Given the description of an element on the screen output the (x, y) to click on. 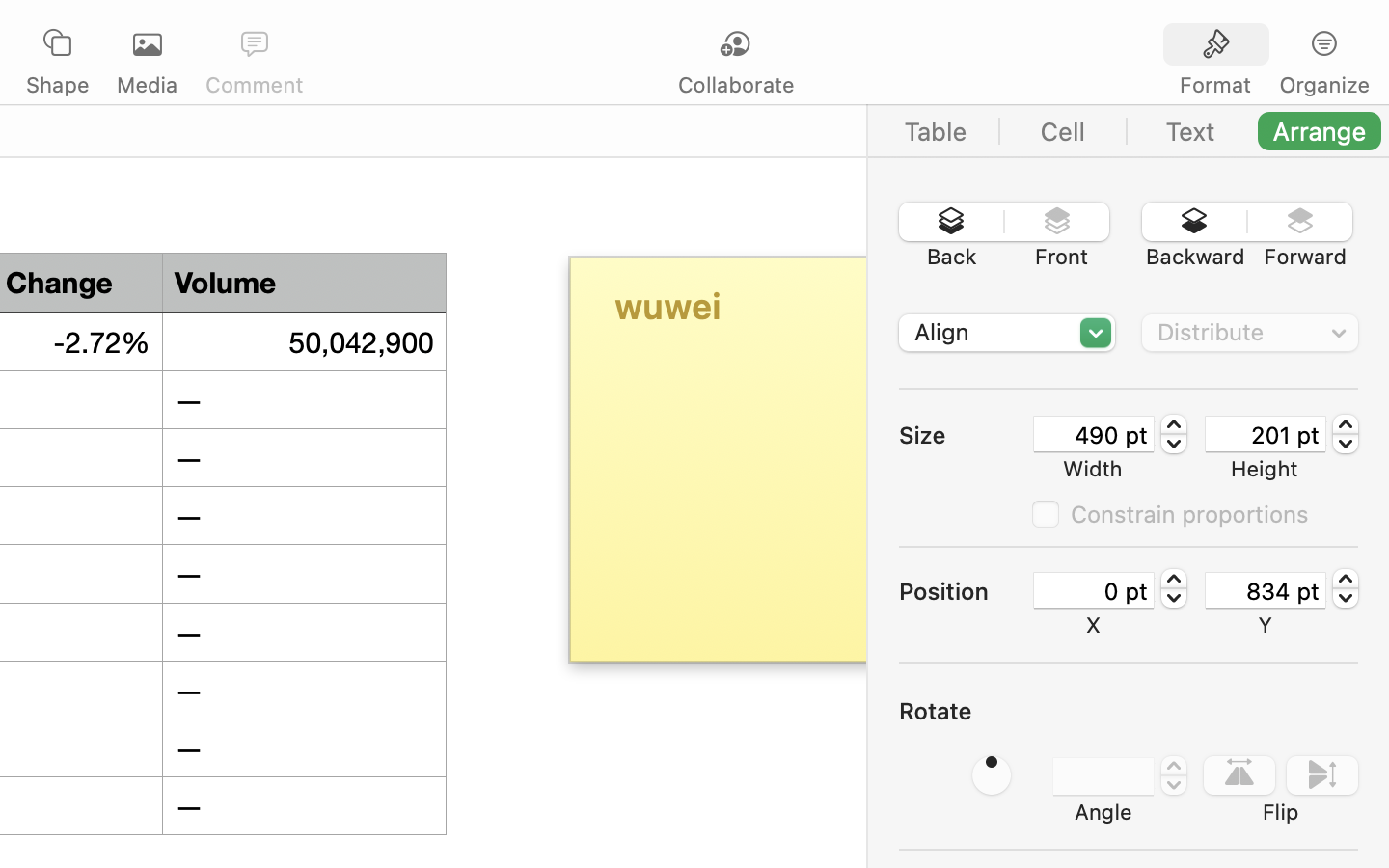
0 pt Element type: AXTextField (1093, 589)
Angle Element type: AXStaticText (1103, 811)
834 pt Element type: AXTextField (1265, 589)
490.0 Element type: AXIncrementor (1173, 433)
